Given the description of an element on the screen output the (x, y) to click on. 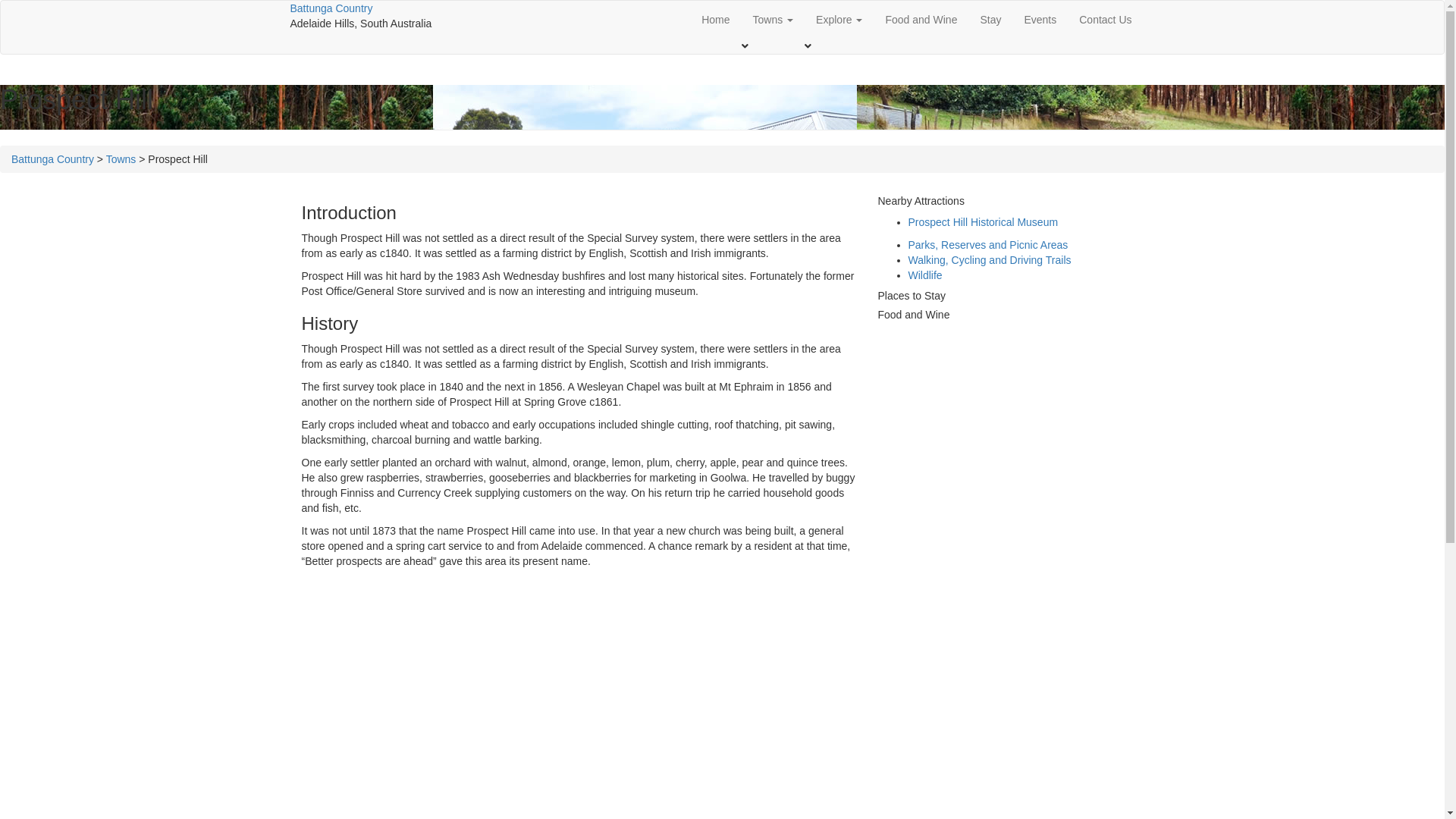
Events Element type: text (1039, 19)
Parks, Reserves and Picnic Areas Element type: text (988, 244)
Towns Element type: text (121, 159)
Towns Element type: text (773, 19)
Food and Wine Element type: text (920, 19)
Prospect Hill Historical Museum Element type: text (983, 222)
Walking, Cycling and Driving Trails Element type: text (989, 260)
Contact Us Element type: text (1104, 19)
Explore Element type: text (838, 19)
Home Element type: text (715, 19)
Stay Element type: text (990, 19)
Battunga Country Element type: text (52, 159)
Wildlife Element type: text (925, 275)
Battunga Country Element type: text (330, 8)
